Given the description of an element on the screen output the (x, y) to click on. 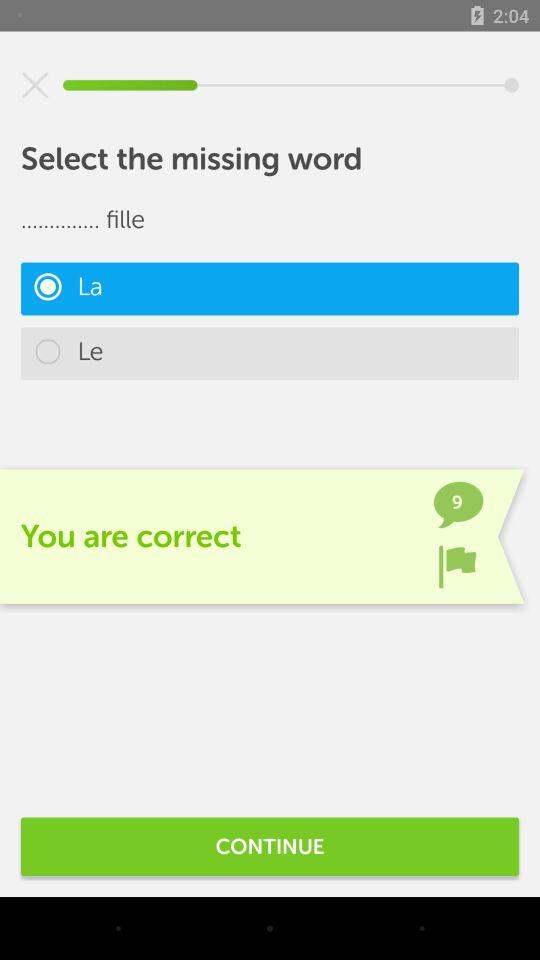
tap la item (270, 288)
